Given the description of an element on the screen output the (x, y) to click on. 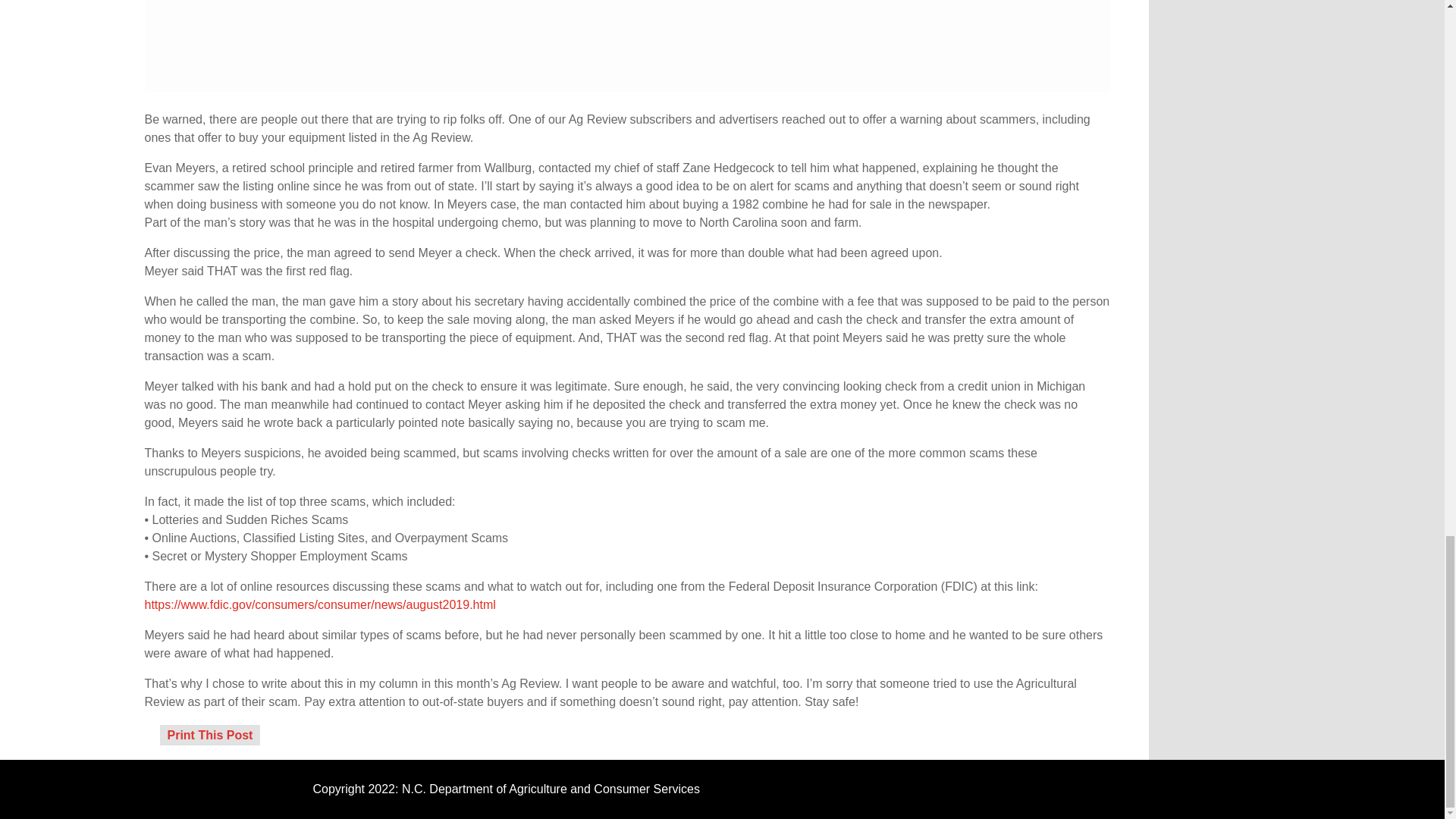
AGR03232301 (626, 45)
Print This Post (209, 735)
